Given the description of an element on the screen output the (x, y) to click on. 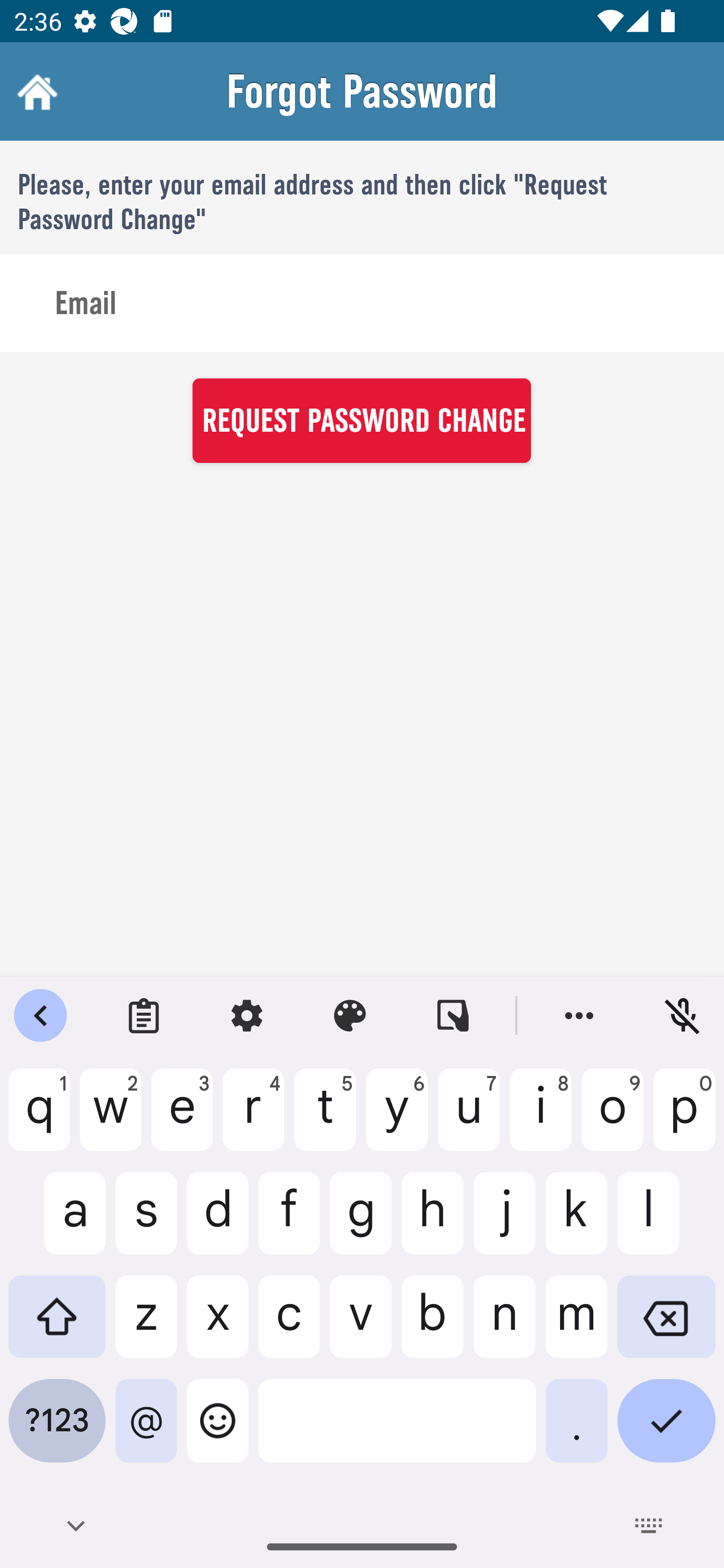
Home (35, 91)
Email (361, 303)
REQUEST PASSWORD CHANGE (361, 419)
